Given the description of an element on the screen output the (x, y) to click on. 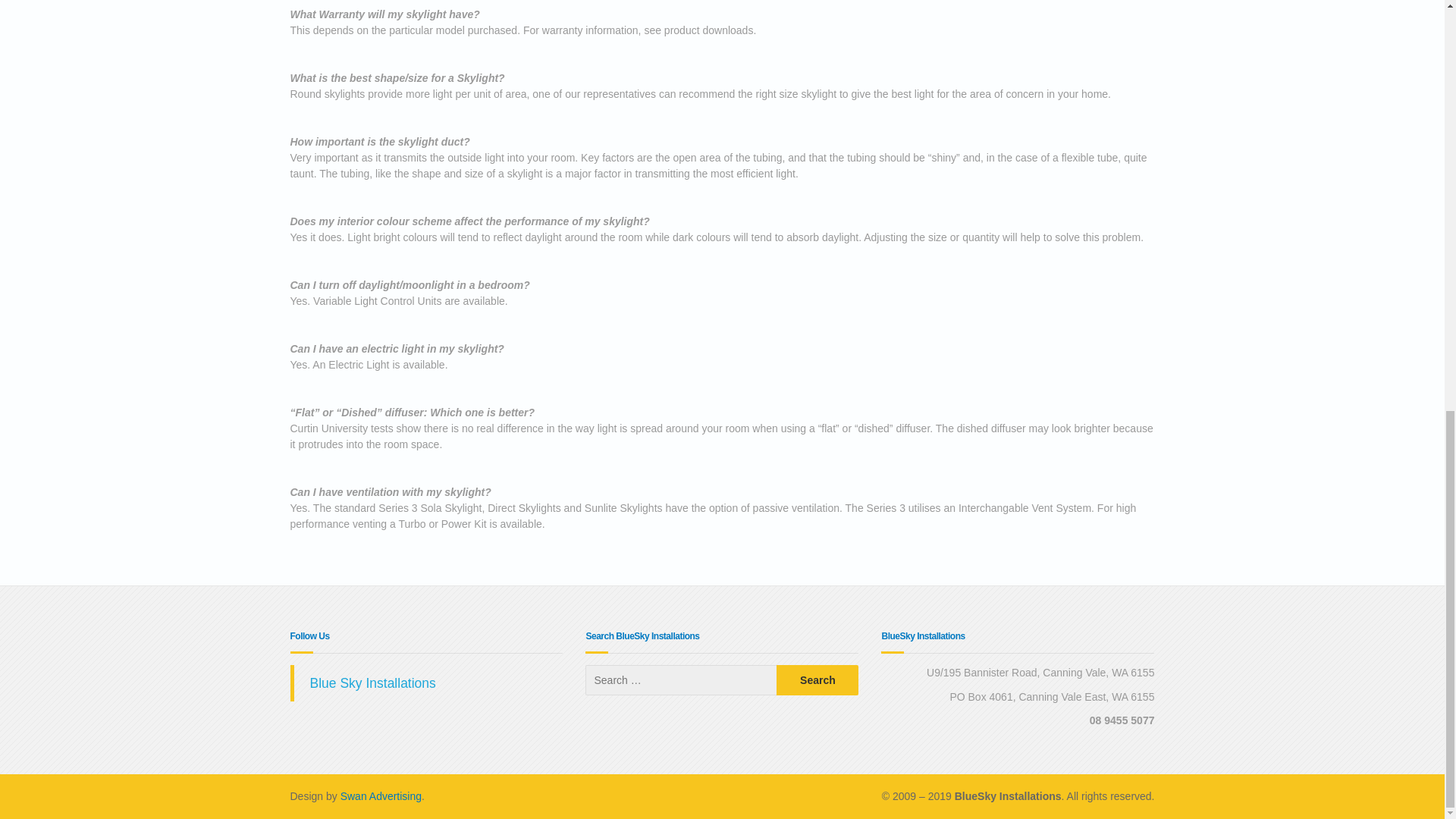
Search (817, 680)
Blue Sky Installations (371, 683)
Search (817, 680)
Swan Advertising (381, 796)
Search (817, 680)
